Given the description of an element on the screen output the (x, y) to click on. 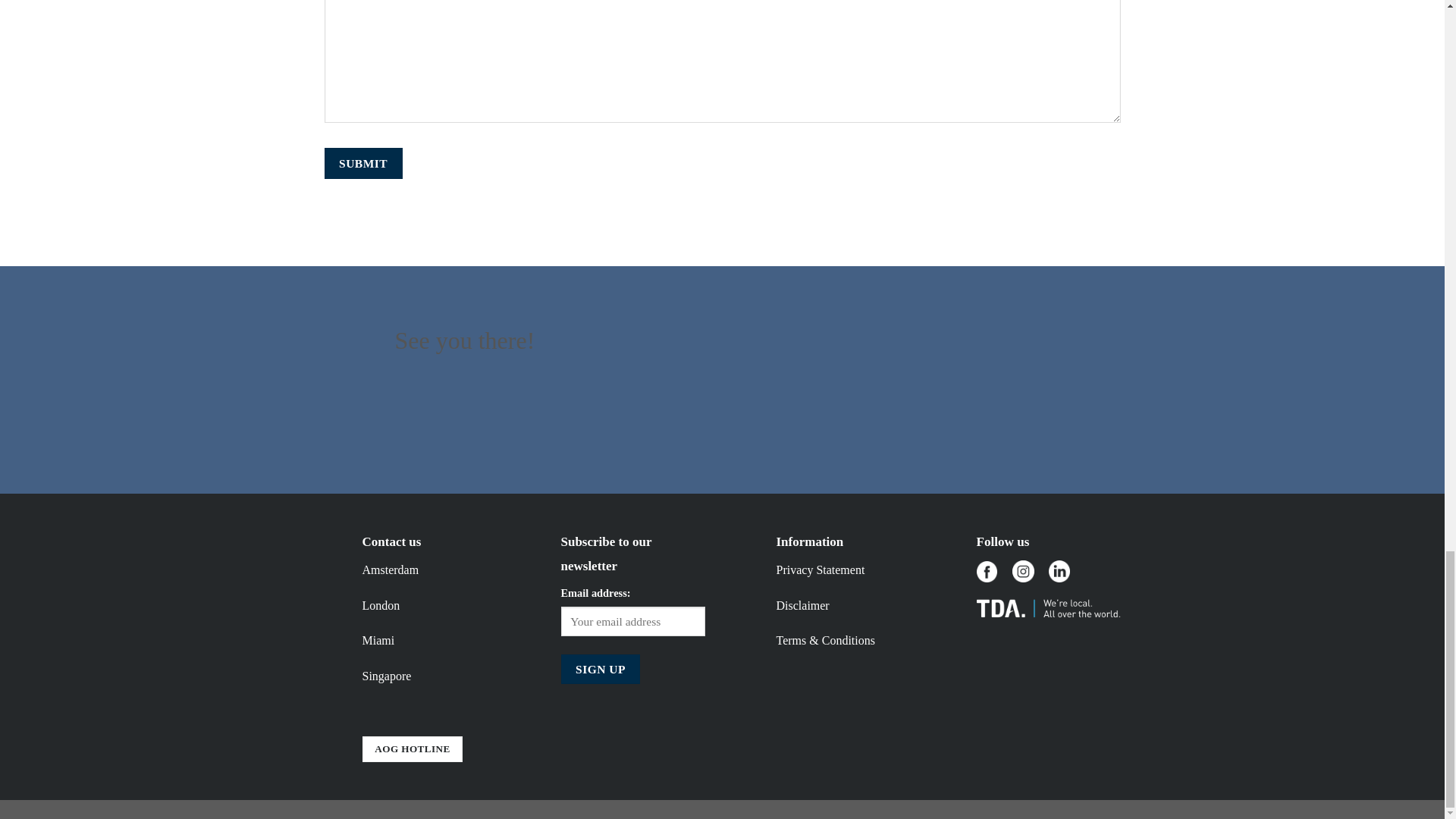
Miami (378, 640)
Amsterdam (390, 569)
AOG HOTLINE (412, 749)
Sign up (600, 668)
Sign up (600, 668)
Disclaimer (802, 604)
Submit (363, 163)
Privacy Statement (820, 569)
Singapore (387, 675)
London (381, 604)
Submit (363, 163)
